Given the description of an element on the screen output the (x, y) to click on. 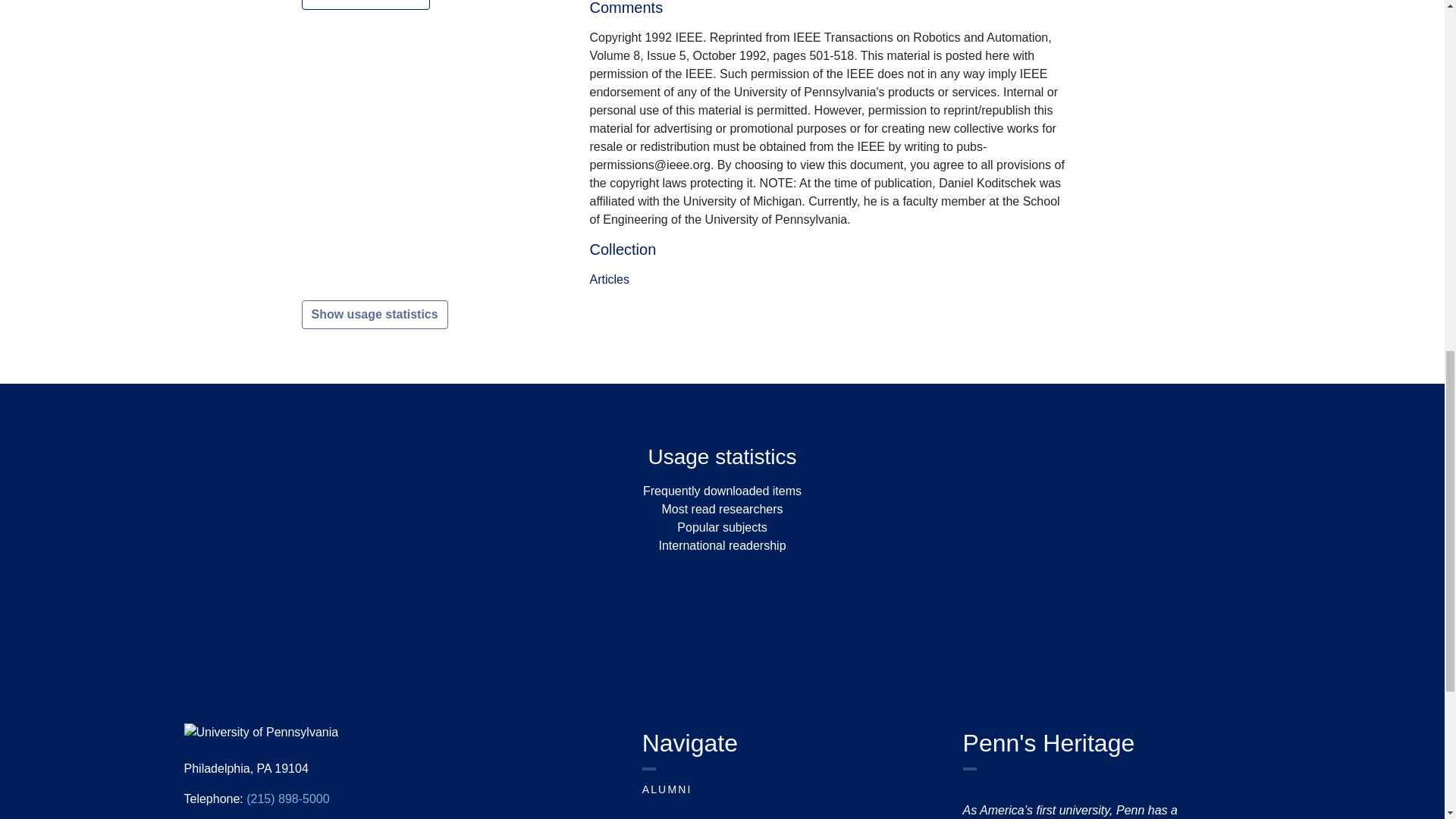
Popular subjects (722, 526)
Frequently downloaded items (722, 490)
ALUMNI (667, 788)
Popular subjects (722, 526)
Show usage statistics (374, 314)
ATHLETICS (678, 818)
International readership (722, 545)
Most read researchers (722, 508)
Frequently downloaded items (722, 490)
Articles (608, 278)
